Given the description of an element on the screen output the (x, y) to click on. 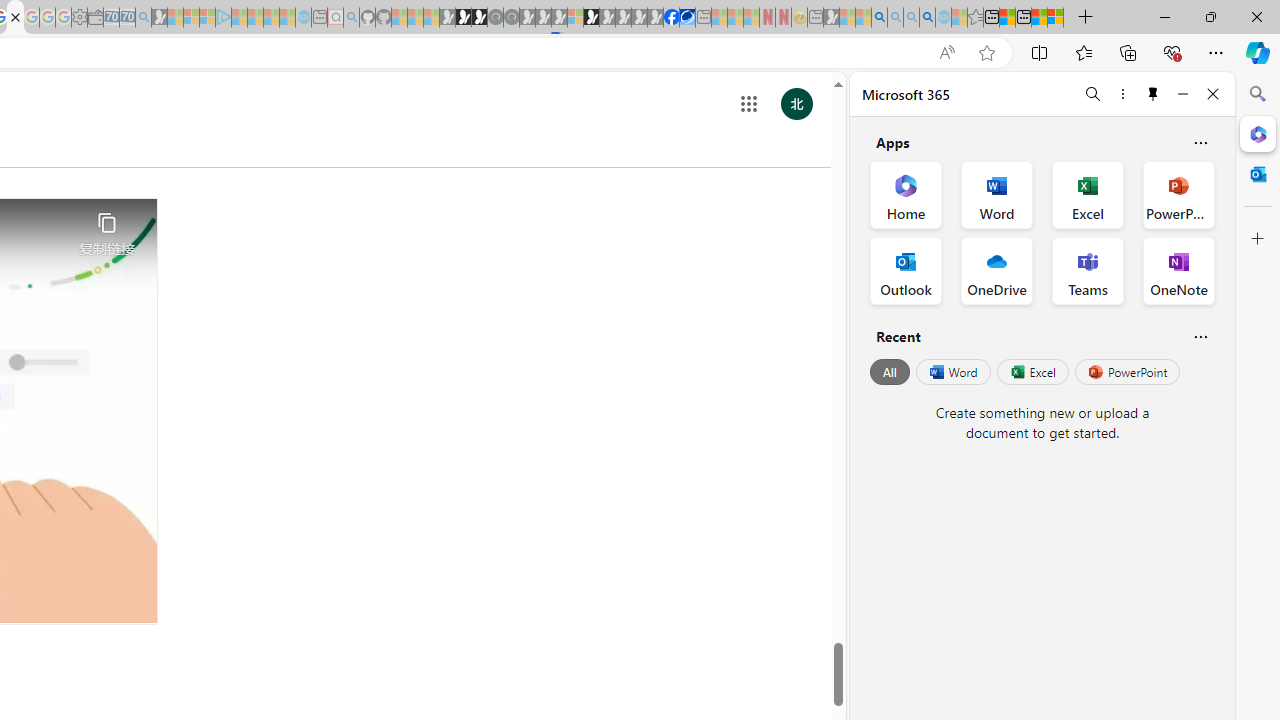
Close Microsoft 365 pane (1258, 133)
Outlook Office App (906, 270)
